Given the description of an element on the screen output the (x, y) to click on. 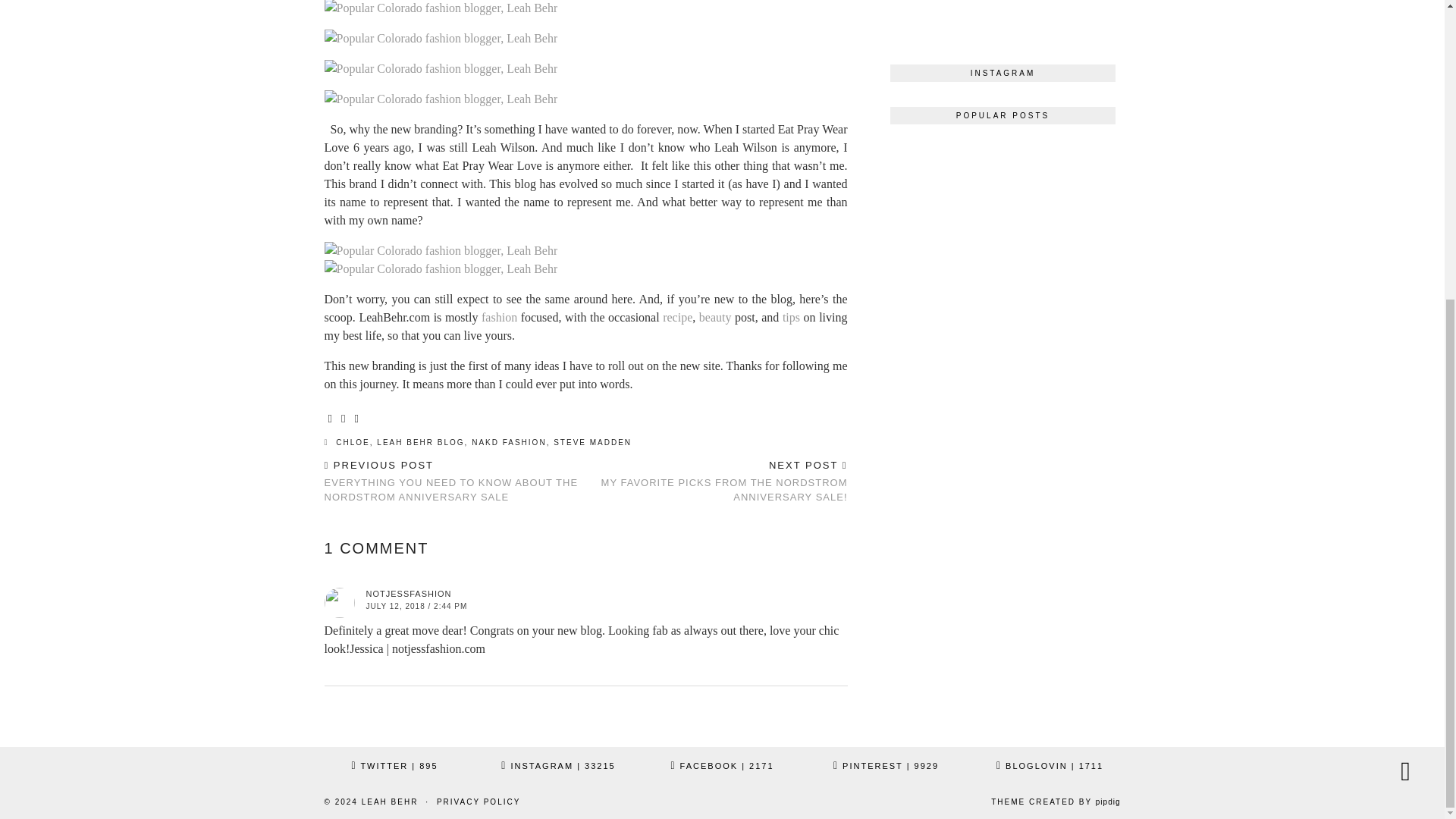
LEAH BEHR BLOG (420, 442)
CHLOE (352, 442)
tips (791, 317)
NAKD FASHION (508, 442)
beauty (715, 317)
recipe (677, 317)
fashion (498, 317)
STEVE MADDEN (592, 442)
